Given the description of an element on the screen output the (x, y) to click on. 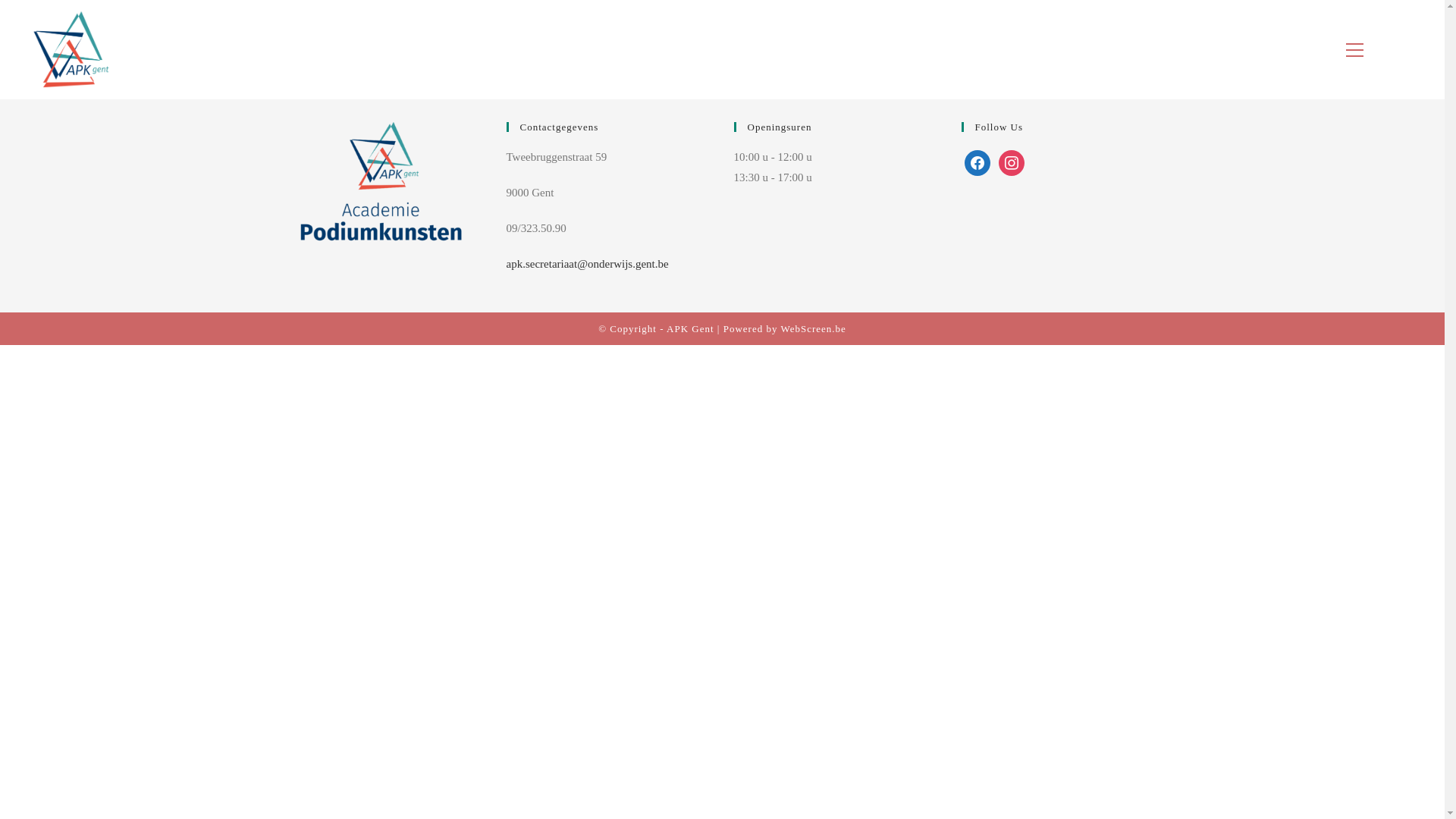
Default Label Element type: hover (1011, 161)
apk.secretariaat@onderwijs.gent.be Element type: text (587, 263)
WebScreen.be Element type: text (812, 328)
Facebook Element type: hover (977, 161)
